Given the description of an element on the screen output the (x, y) to click on. 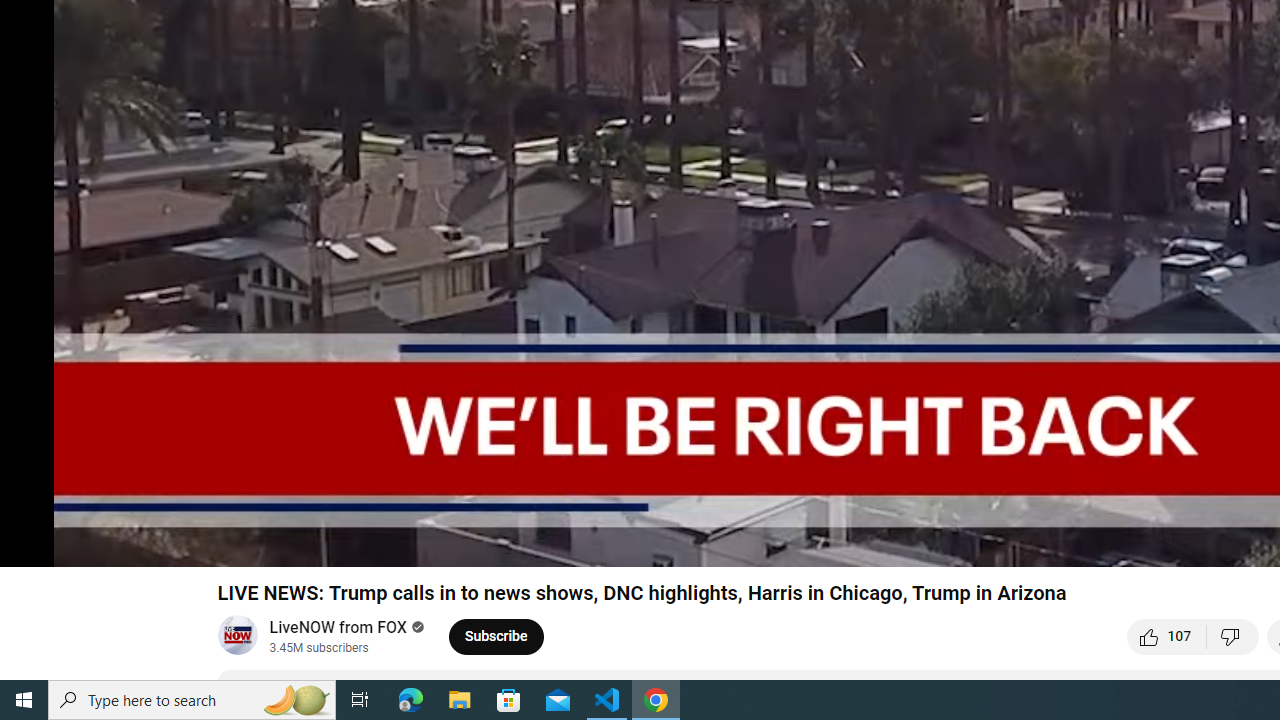
Mute (m) (129, 543)
Next (SHIFT+n) (81, 543)
Skip ahead to live broadcast. (179, 543)
LiveNOW from FOX (338, 627)
Play (k) (34, 543)
Verified (414, 626)
Subscribe to LiveNOW from FOX. (496, 636)
like this video along with 107 other people (1167, 636)
Dislike this video (1233, 636)
